Given the description of an element on the screen output the (x, y) to click on. 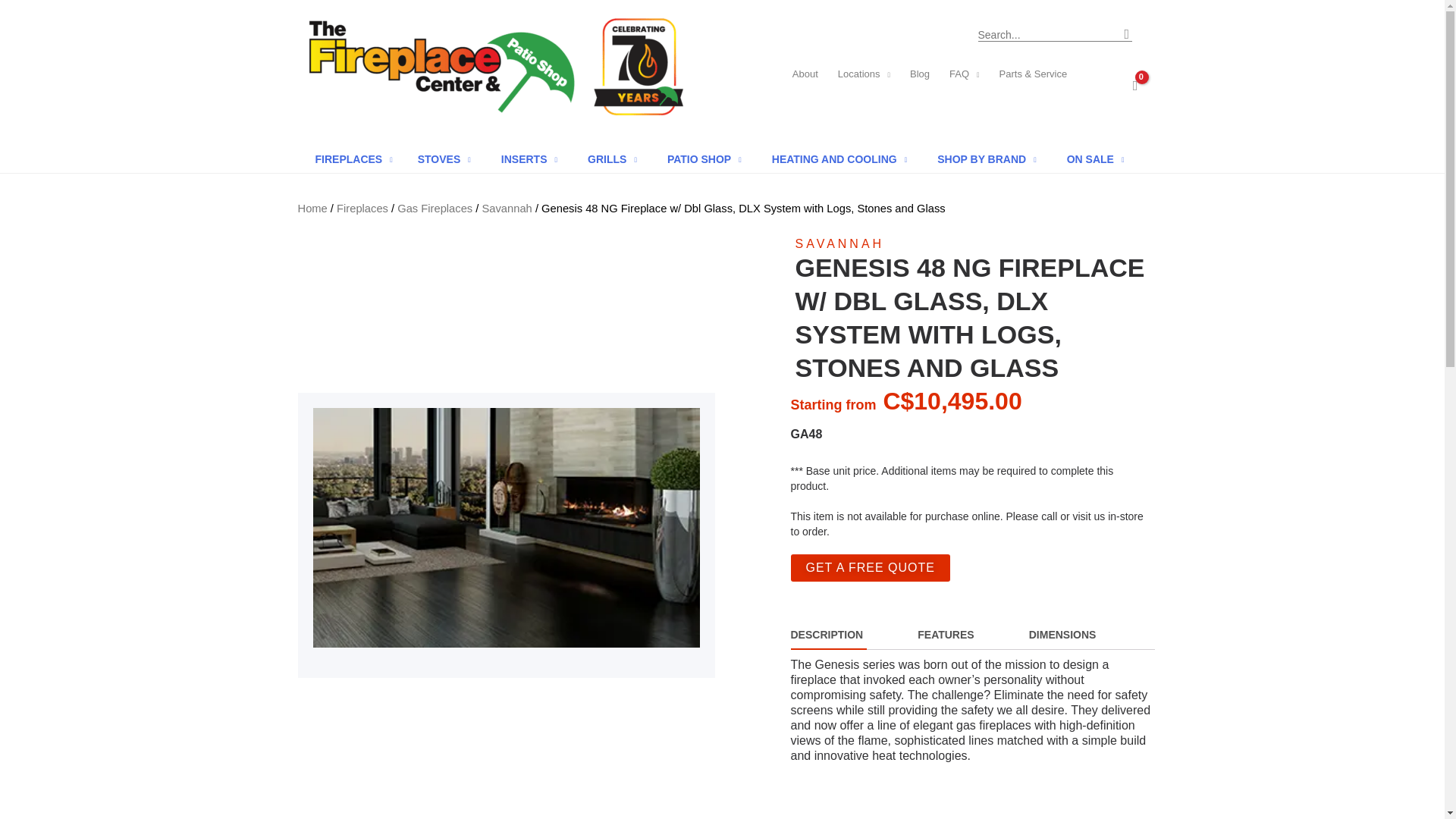
Search (1126, 31)
Galaxy-48-highend-apartment (505, 527)
FIREPLACES (352, 158)
Blog (919, 73)
FAQ (964, 73)
About (805, 73)
Locations (863, 73)
